Given the description of an element on the screen output the (x, y) to click on. 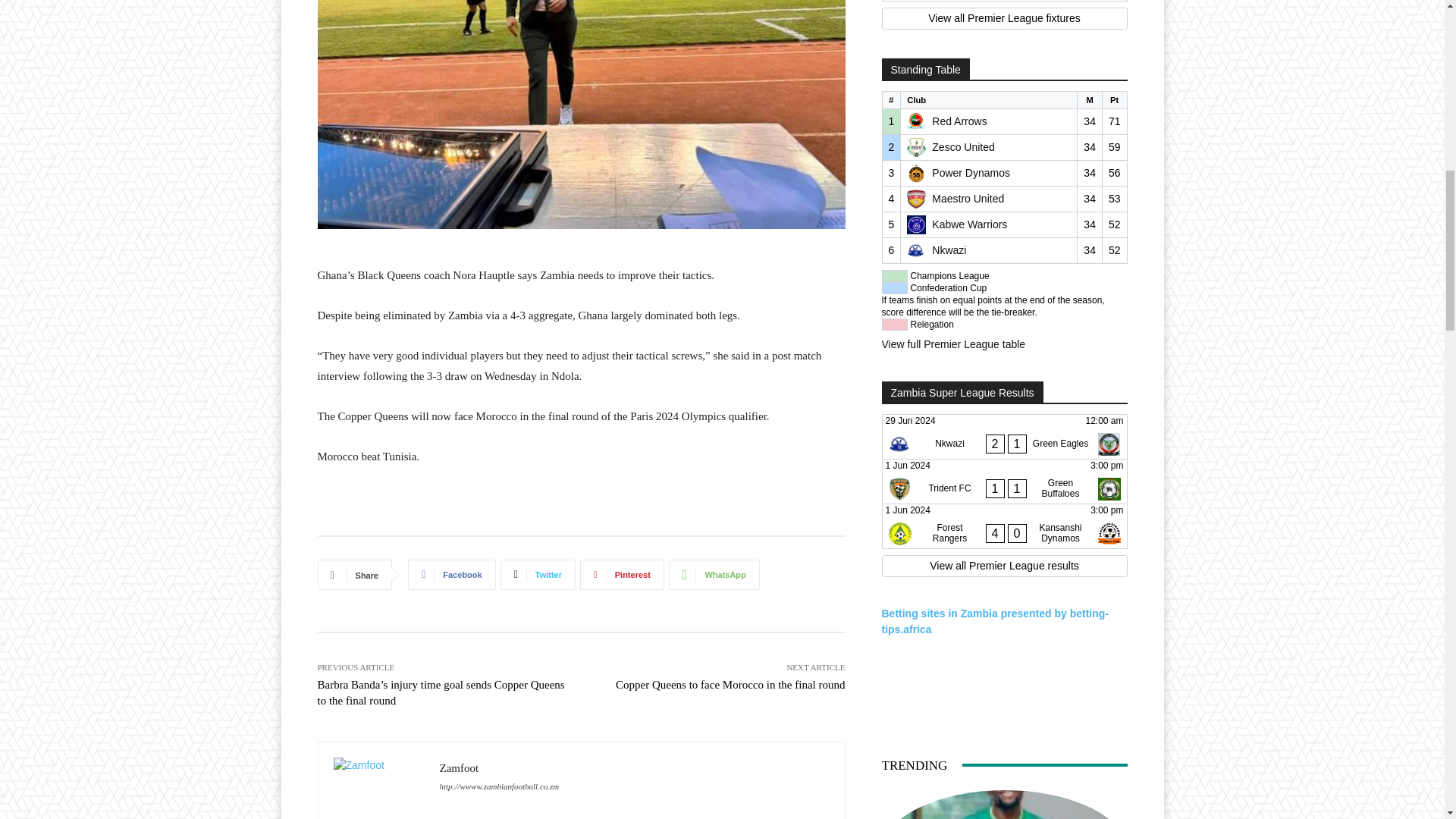
Twitter (537, 574)
Facebook (451, 574)
